Given the description of an element on the screen output the (x, y) to click on. 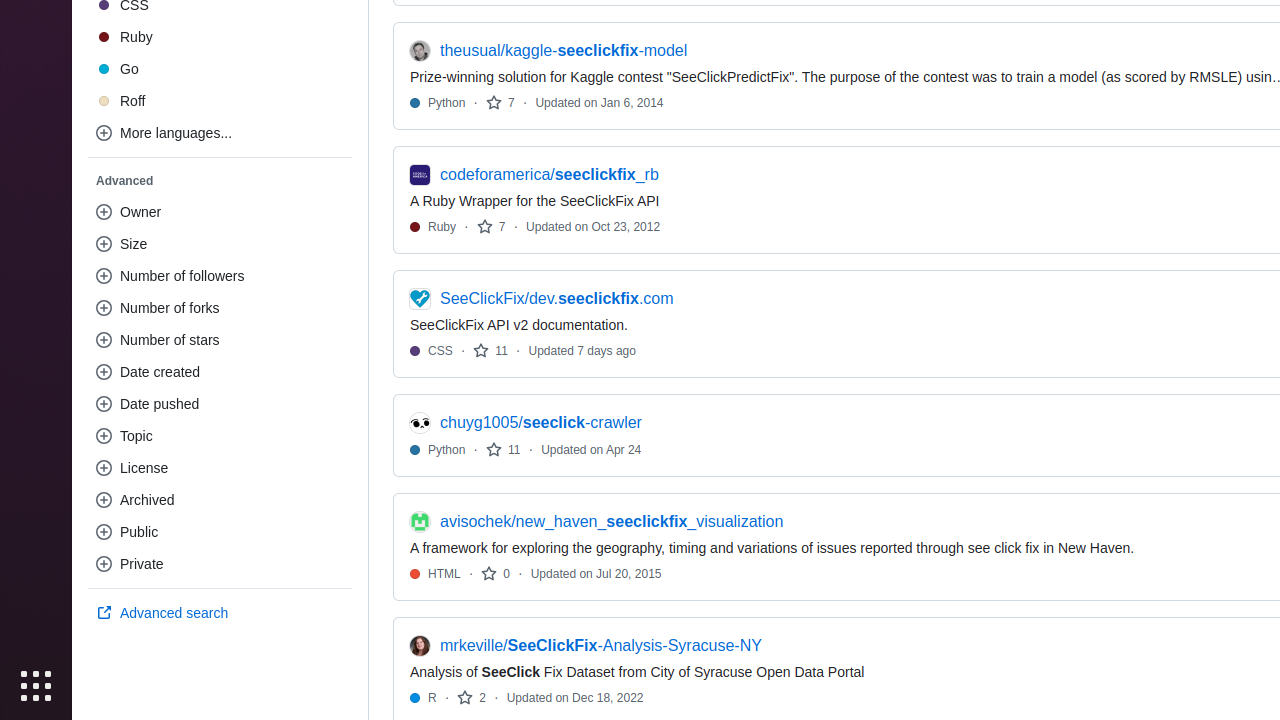
‎Private‎ Element type: link (220, 564)
‎Date pushed‎ Element type: push-button (220, 404)
Show Applications Element type: toggle-button (36, 686)
‎Archived‎ Element type: push-button (220, 500)
‎Go‎ Element type: link (220, 69)
